Given the description of an element on the screen output the (x, y) to click on. 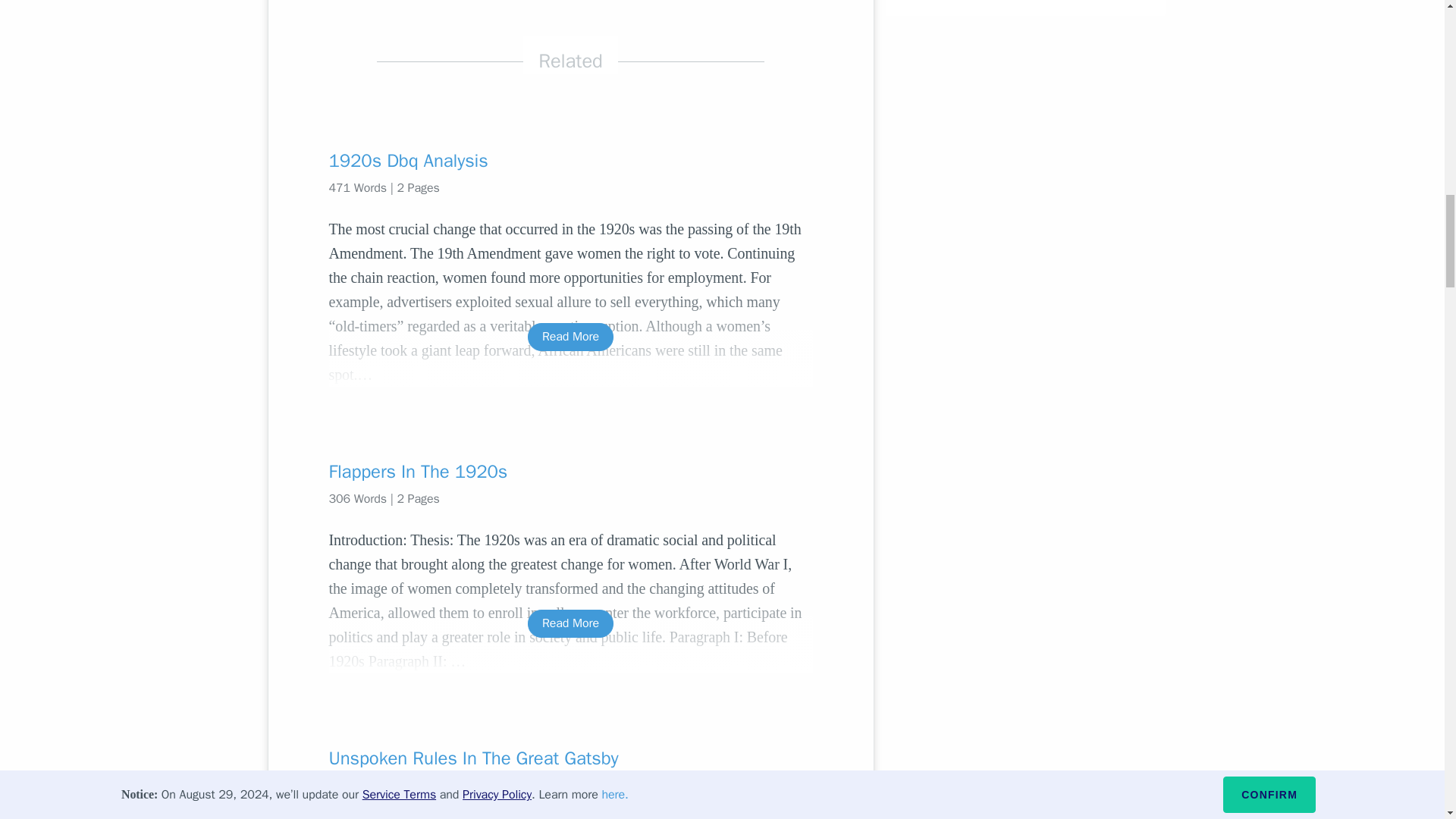
Read More (569, 623)
Read More (569, 336)
Flappers In The 1920s (570, 471)
Unspoken Rules In The Great Gatsby (570, 758)
1920s Dbq Analysis (570, 160)
